Given the description of an element on the screen output the (x, y) to click on. 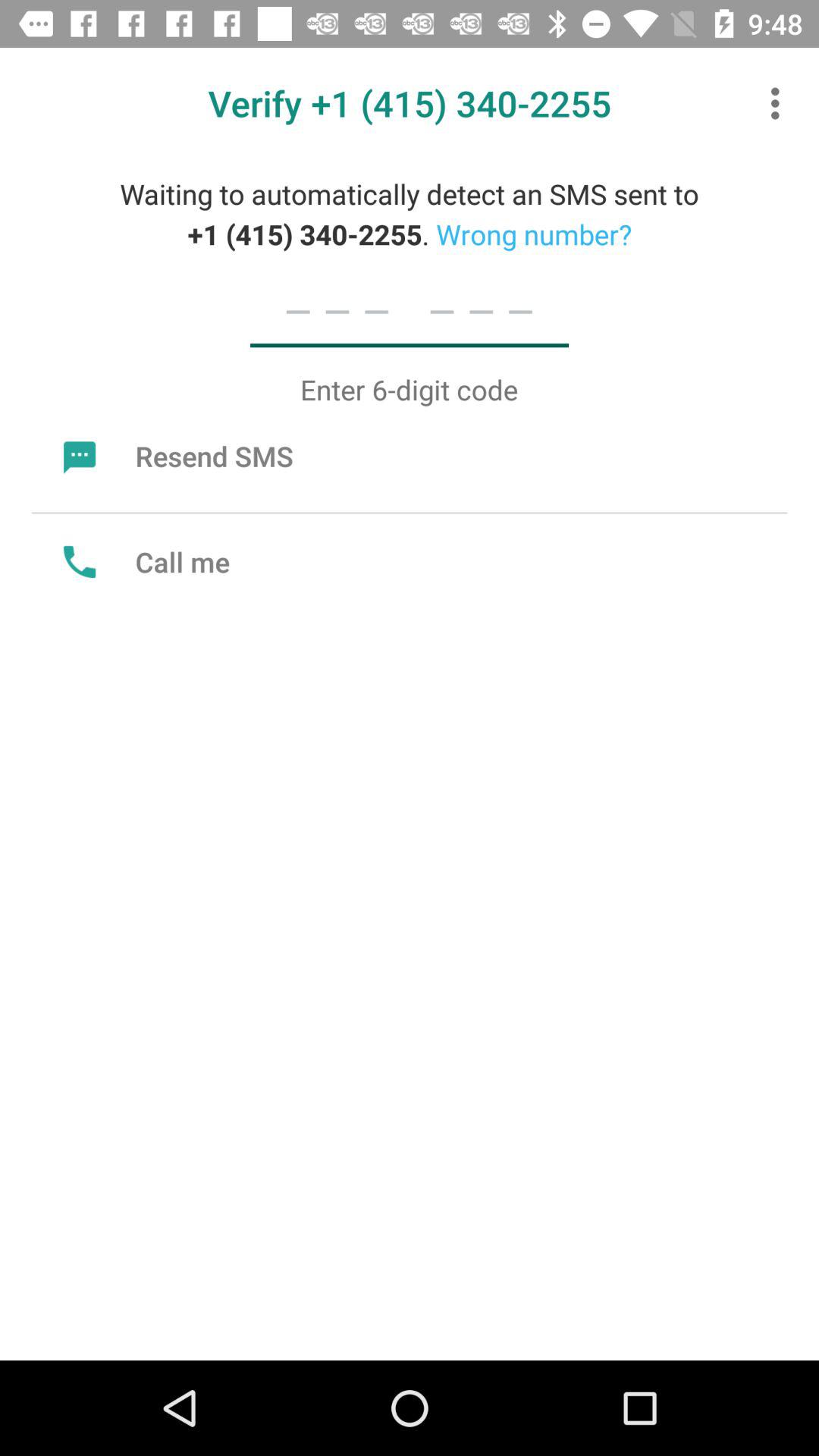
press item at the top left corner (174, 455)
